Given the description of an element on the screen output the (x, y) to click on. 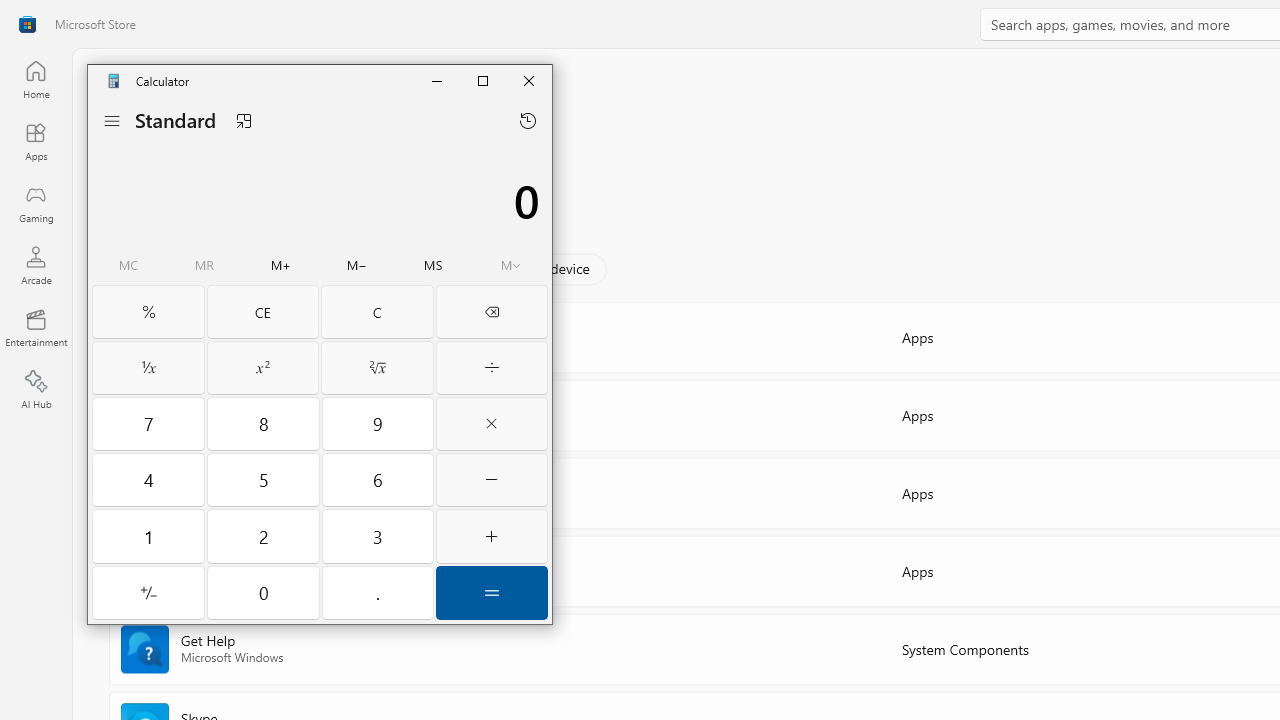
Clear all memory (129, 265)
Six (377, 479)
Positive negative (148, 592)
Entertainment (35, 327)
Square (262, 368)
Keep on top (243, 120)
Seven (148, 423)
One (148, 536)
Two (263, 536)
Apps (35, 141)
Divide by (491, 368)
Minimize Calculator (436, 80)
Maximize Calculator (482, 80)
Memory add (280, 265)
Plus (491, 536)
